Given the description of an element on the screen output the (x, y) to click on. 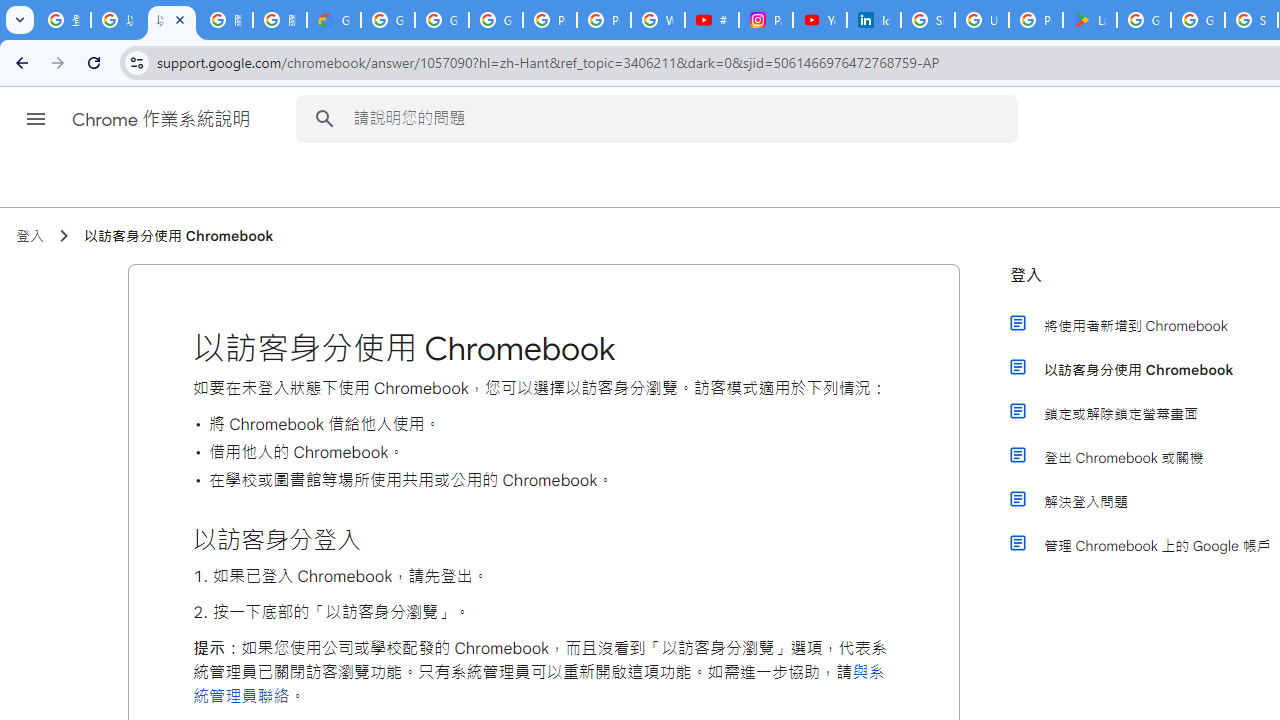
Google Workspace - Specific Terms (1197, 20)
#nbabasketballhighlights - YouTube (711, 20)
View site information (136, 62)
